Given the description of an element on the screen output the (x, y) to click on. 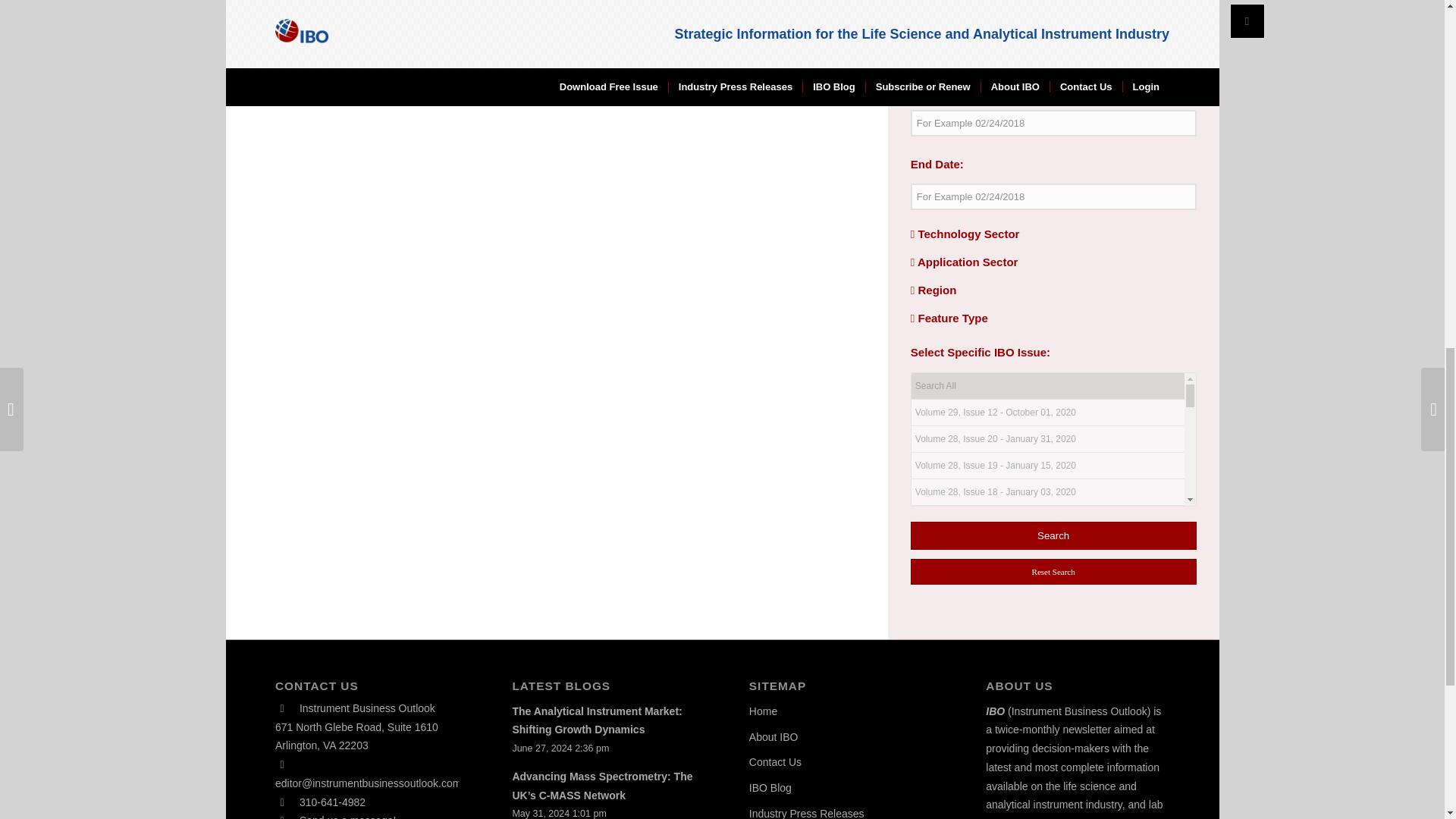
The Analytical Instrument Market: Shifting Growth Dynamics (596, 720)
Feature Type (949, 318)
Region (933, 289)
